Given the description of an element on the screen output the (x, y) to click on. 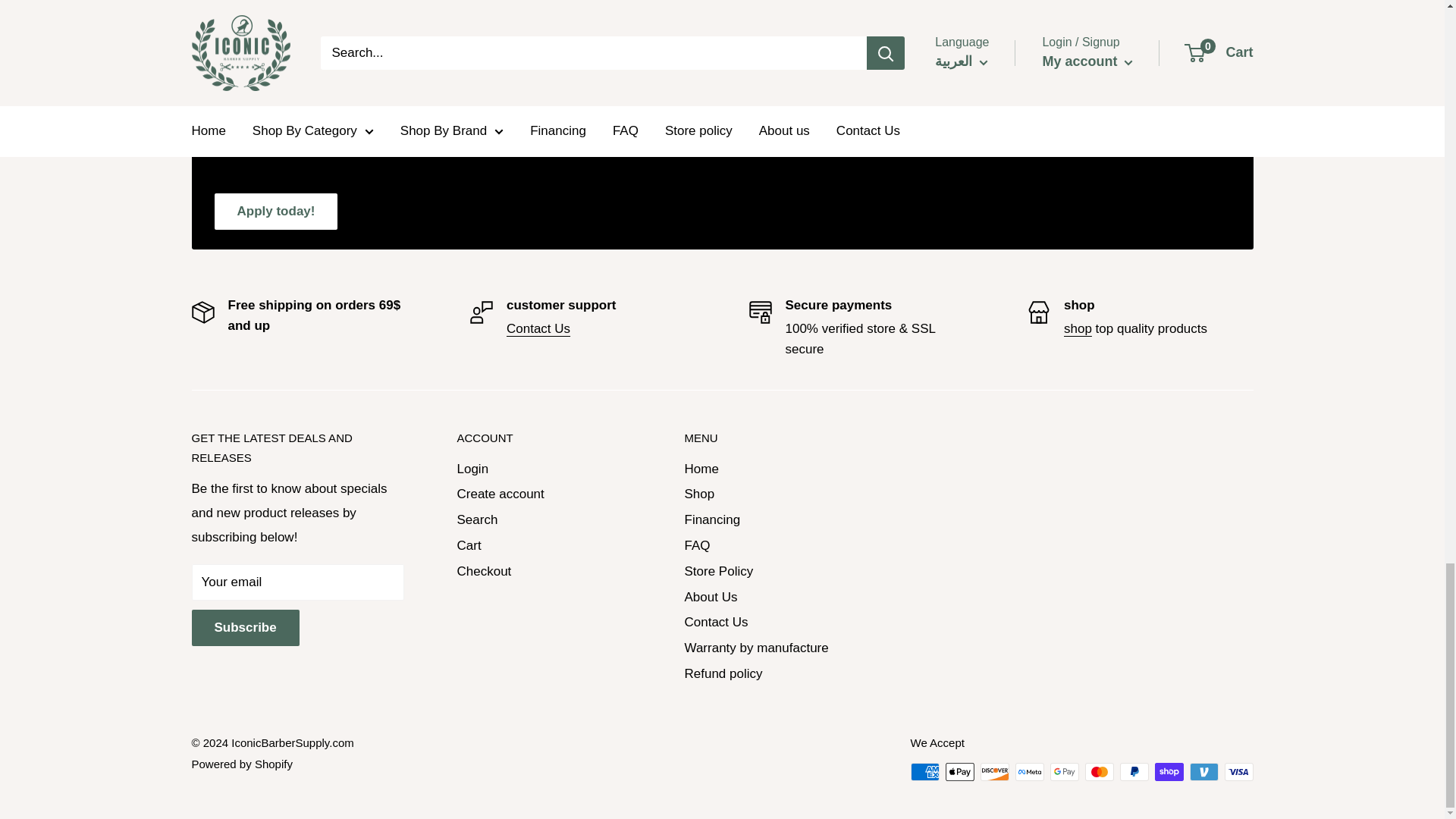
Contact Us (538, 328)
